Given the description of an element on the screen output the (x, y) to click on. 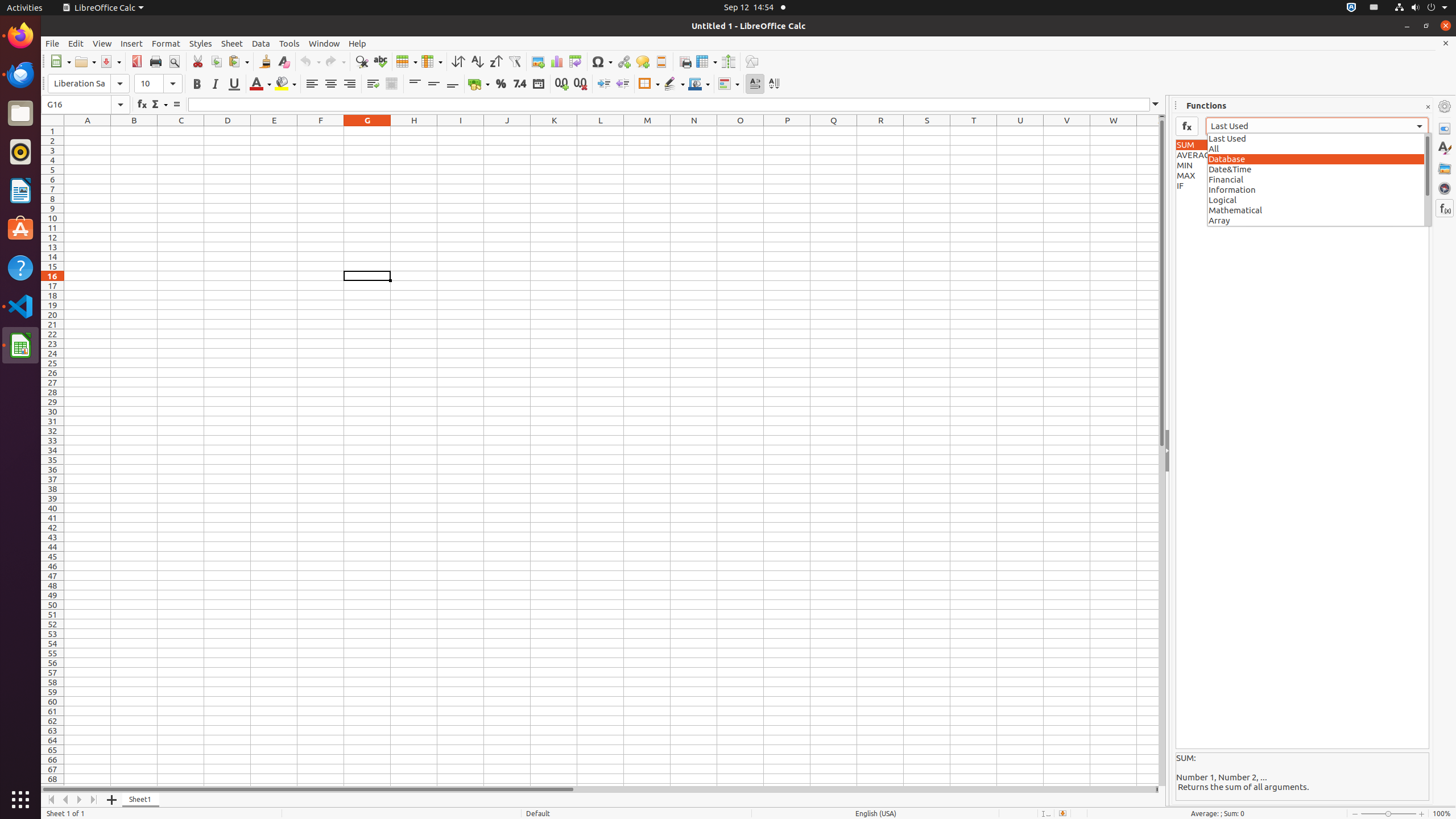
AutoFilter Element type: push-button (514, 61)
Horizontal scroll bar Element type: scroll-bar (597, 789)
Border Style Element type: push-button (673, 83)
Image Element type: push-button (537, 61)
Copy Element type: push-button (216, 61)
